Given the description of an element on the screen output the (x, y) to click on. 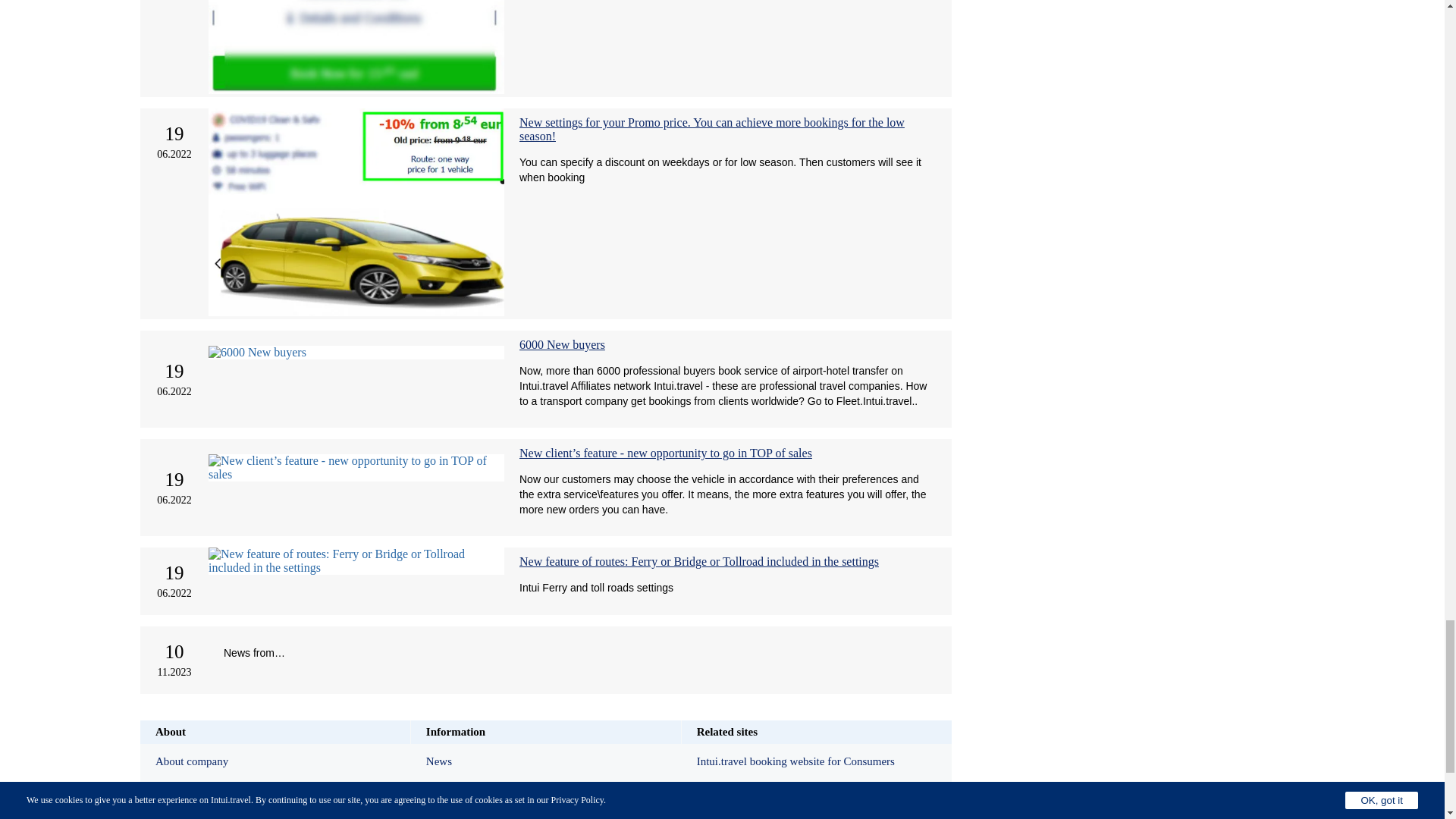
About company (274, 761)
6000 New buyers (562, 344)
